Given the description of an element on the screen output the (x, y) to click on. 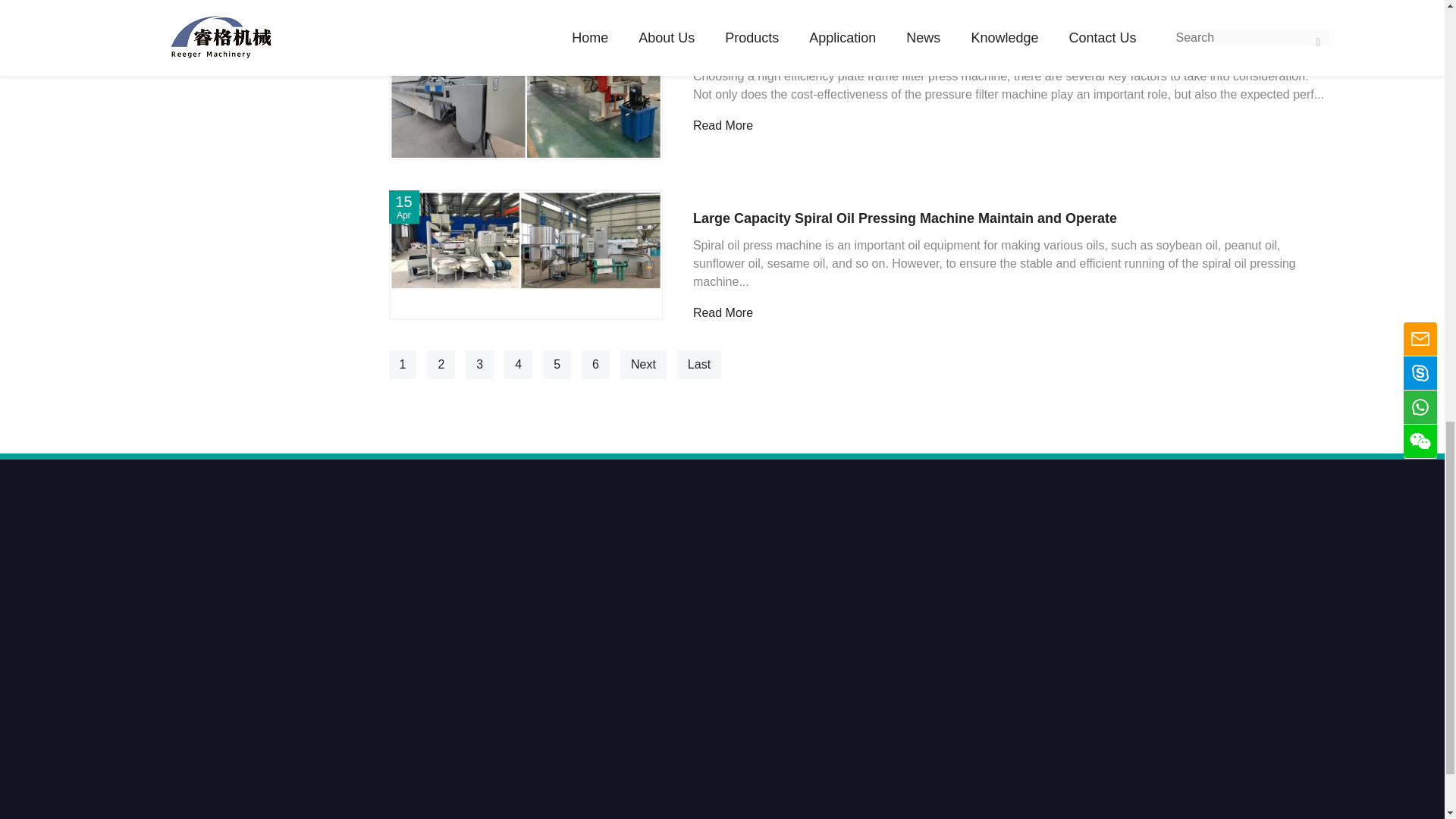
last (698, 364)
